Given the description of an element on the screen output the (x, y) to click on. 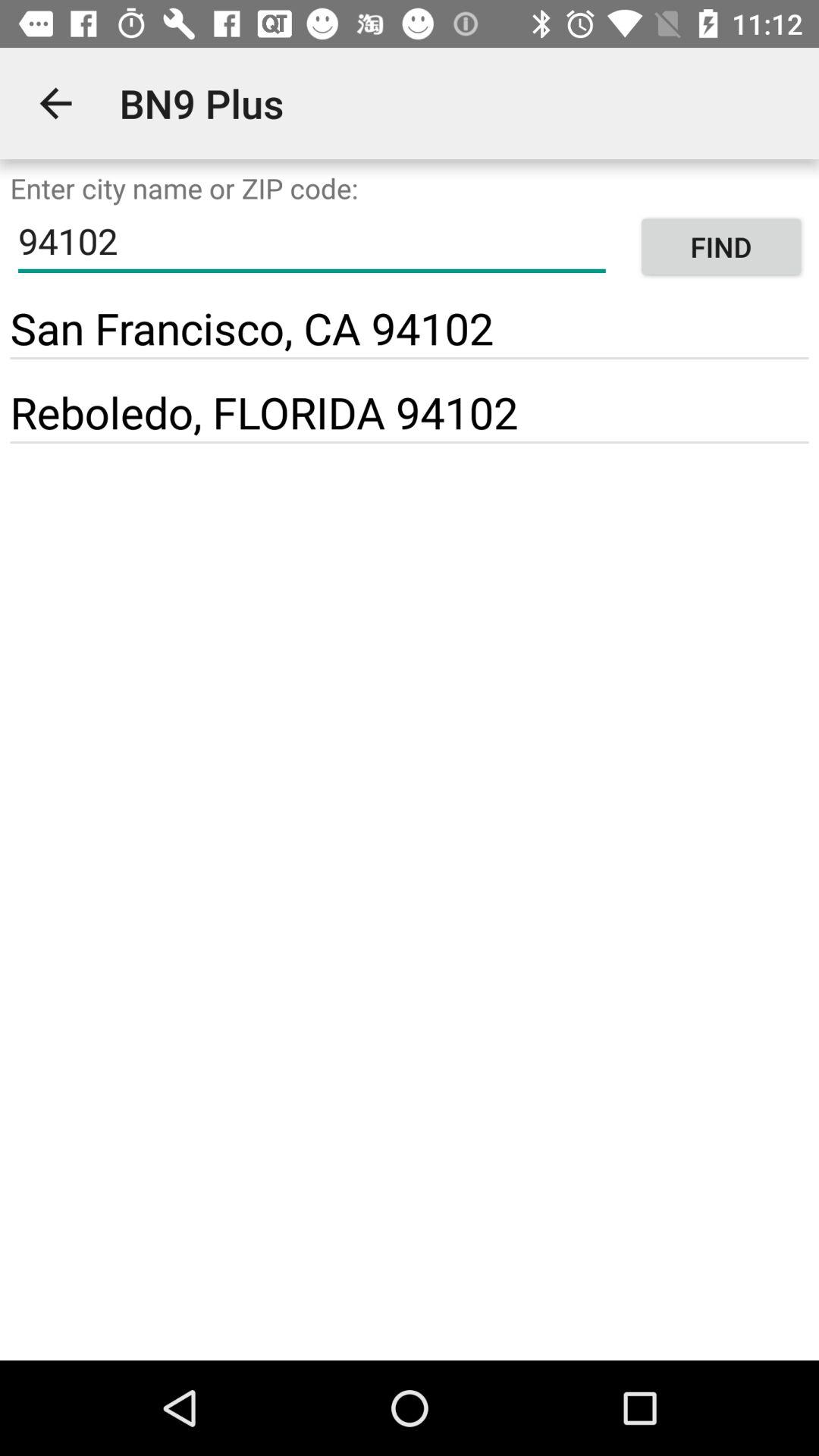
press item to the right of the 94102 (720, 246)
